Given the description of an element on the screen output the (x, y) to click on. 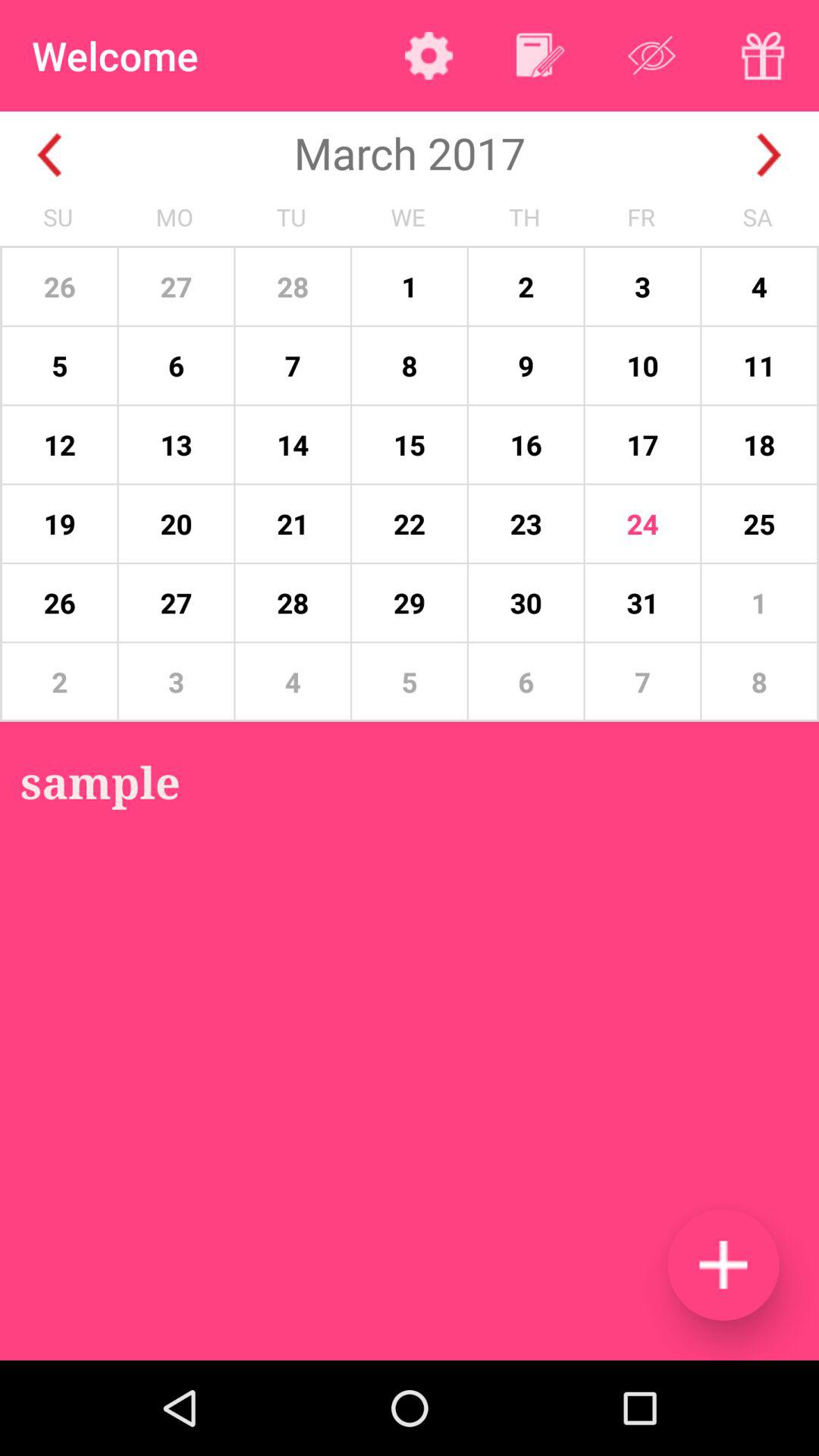
add to calendar (540, 55)
